Given the description of an element on the screen output the (x, y) to click on. 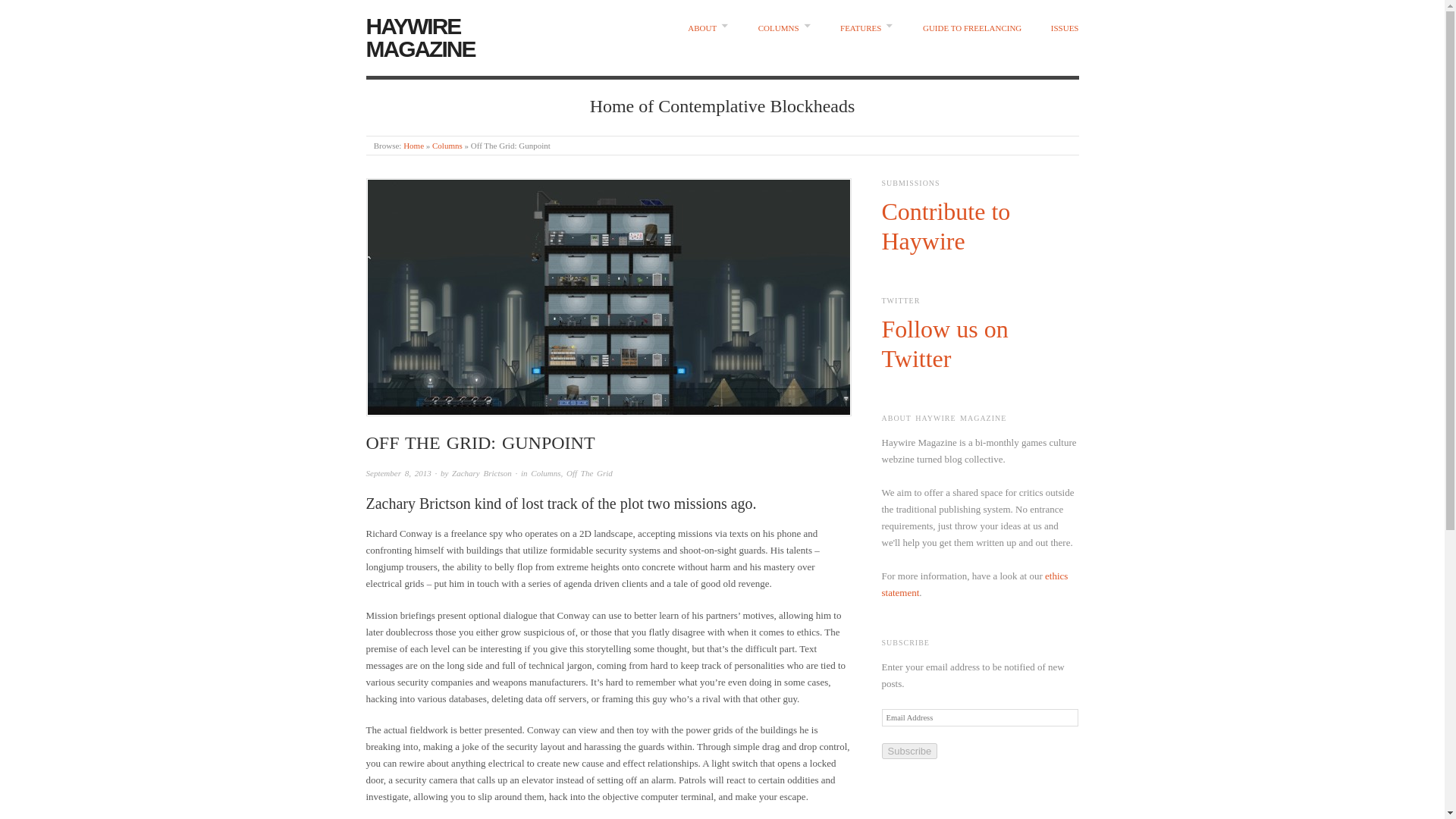
Columns (447, 144)
Posts by Zachary Brictson (481, 472)
GUIDE TO FREELANCING (972, 28)
ethics statement (973, 584)
Columns (545, 472)
Off The Grid (589, 472)
Zachary Brictson (481, 472)
Subscribe (908, 750)
Haywire Magazine (413, 144)
September 8, 2013 (397, 472)
